Given the description of an element on the screen output the (x, y) to click on. 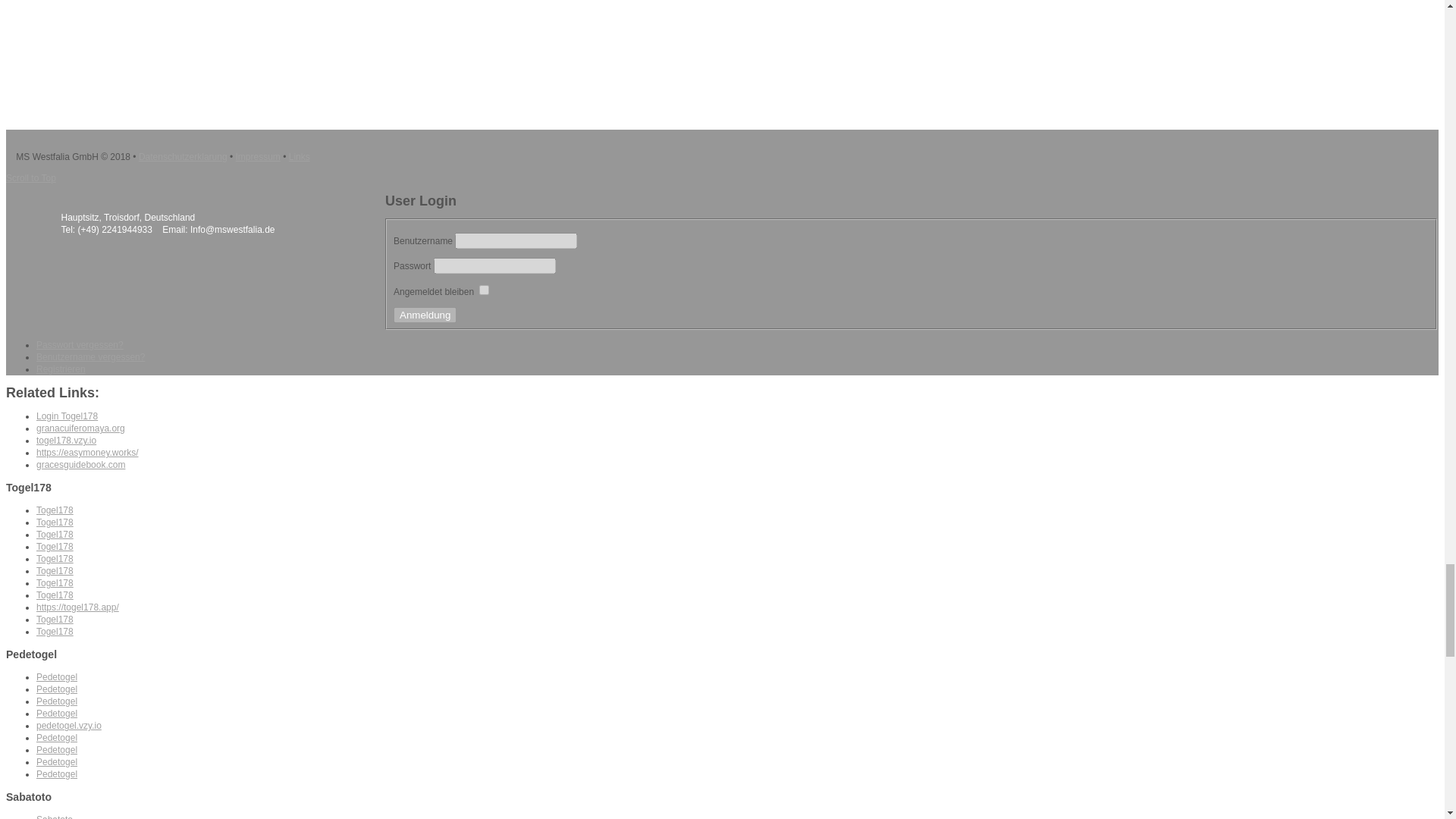
Anmeldung (425, 314)
yes (484, 289)
